Given the description of an element on the screen output the (x, y) to click on. 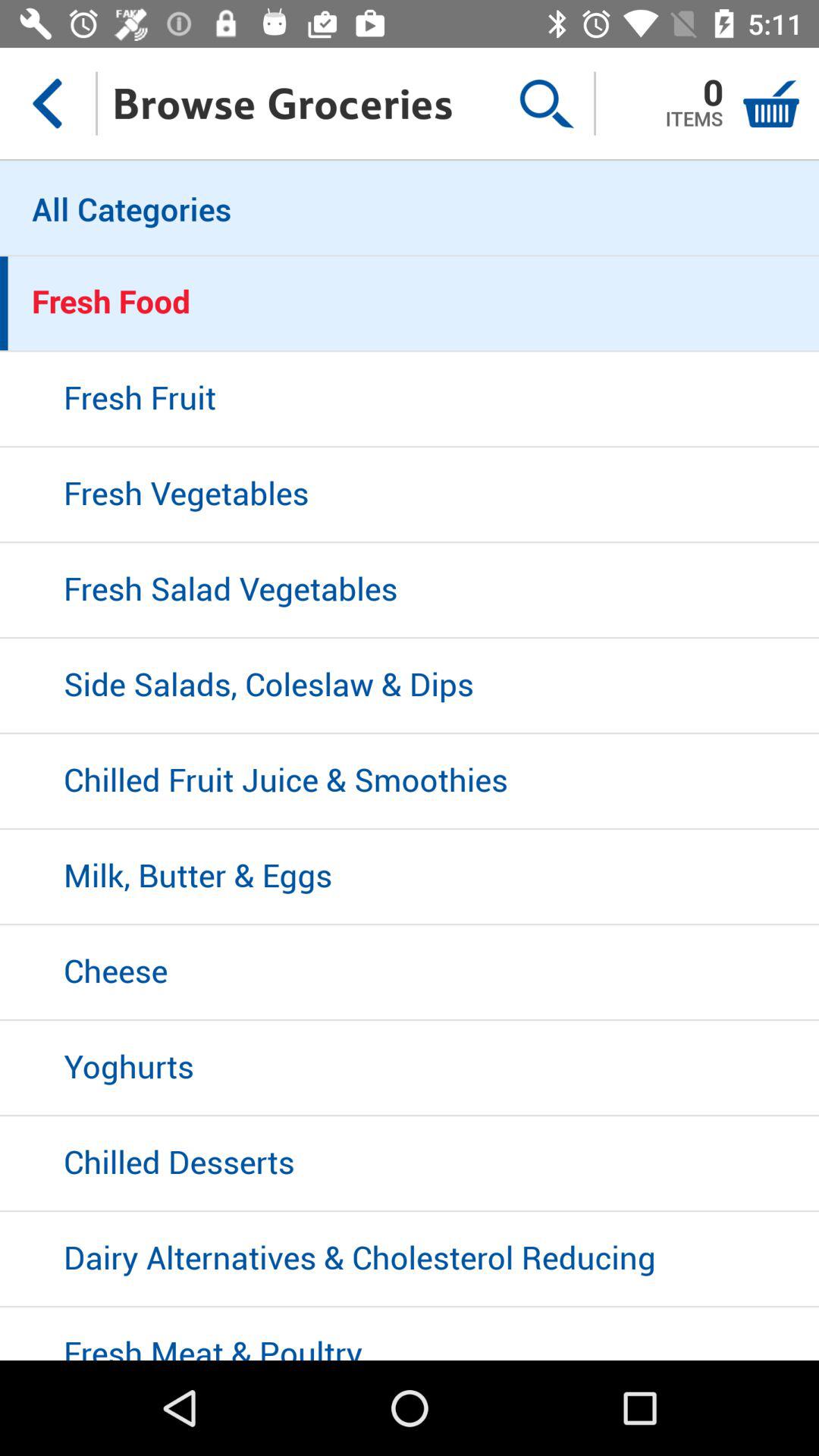
launch the cheese item (409, 972)
